Given the description of an element on the screen output the (x, y) to click on. 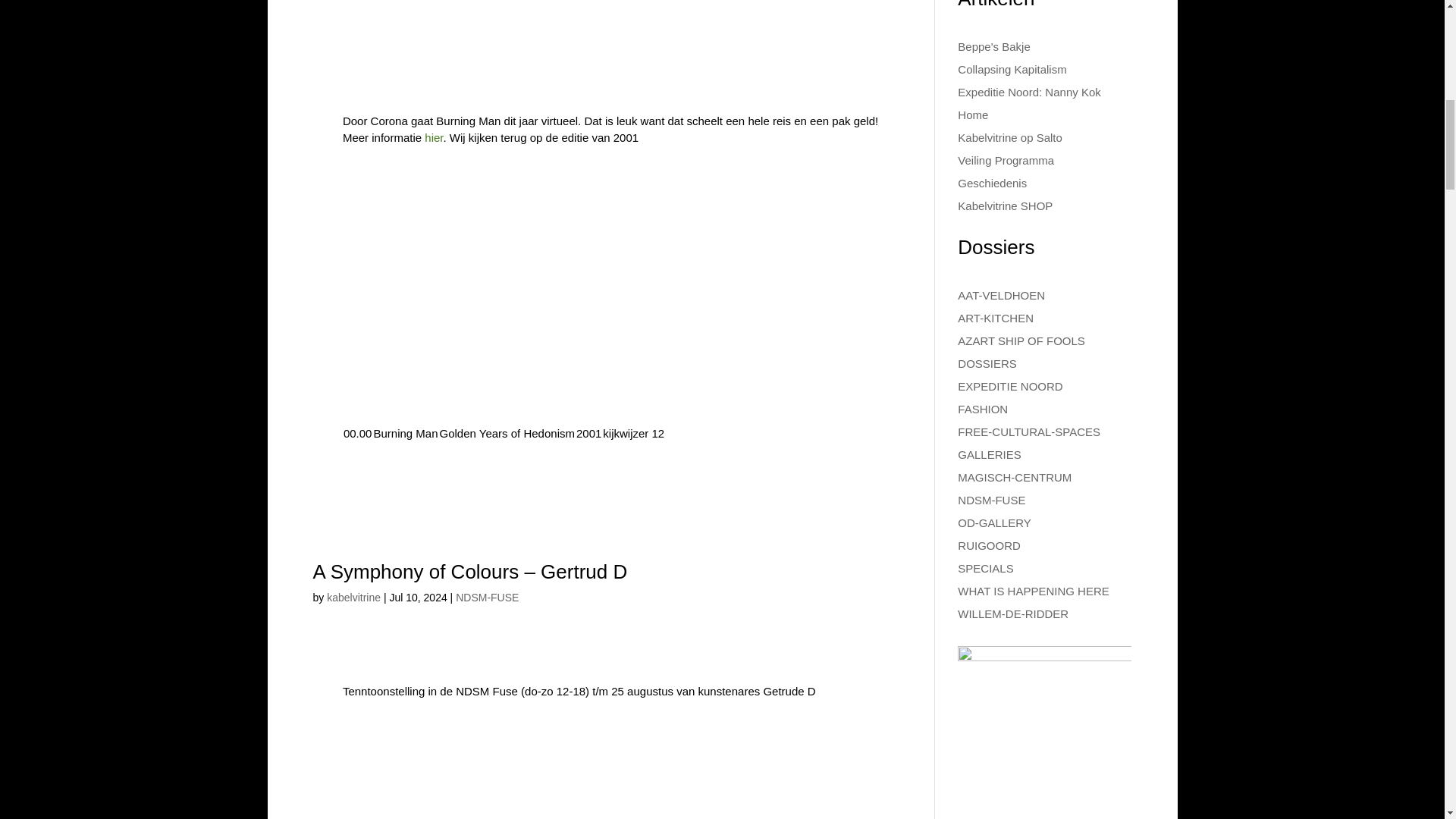
Posts by kabelvitrine (353, 597)
hier (432, 137)
NDSM-FUSE (486, 597)
kabelvitrine (353, 597)
Beppe's Bakje (993, 46)
